Given the description of an element on the screen output the (x, y) to click on. 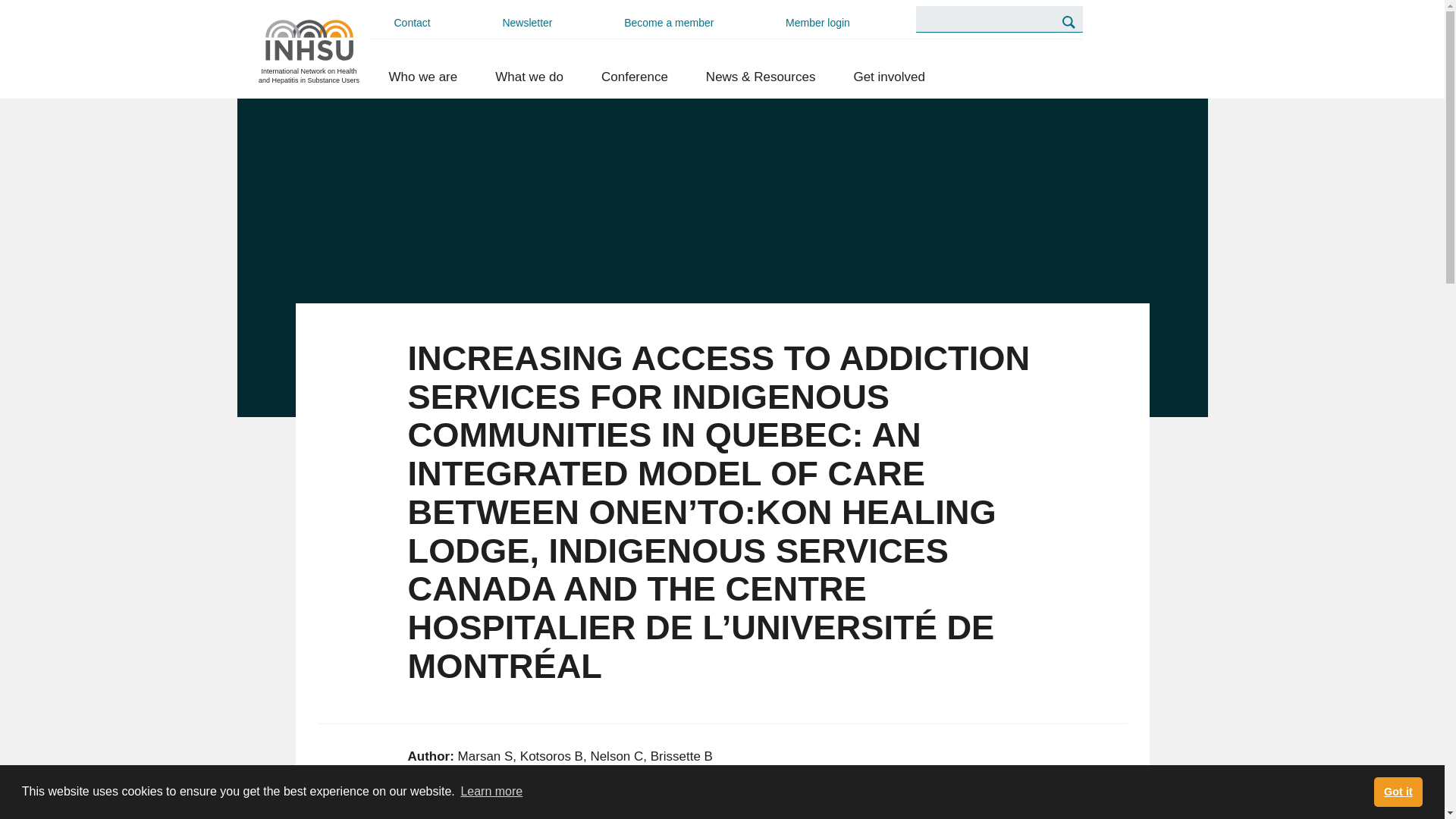
Contact (412, 22)
Newsletter (526, 22)
Become a member (668, 22)
Search (1067, 21)
What we do (529, 77)
Newsletter (526, 22)
Member login (817, 22)
Search (1067, 21)
Become a member (668, 22)
Contact (412, 22)
Who we are (423, 77)
Member login (817, 22)
Conference (634, 77)
